Given the description of an element on the screen output the (x, y) to click on. 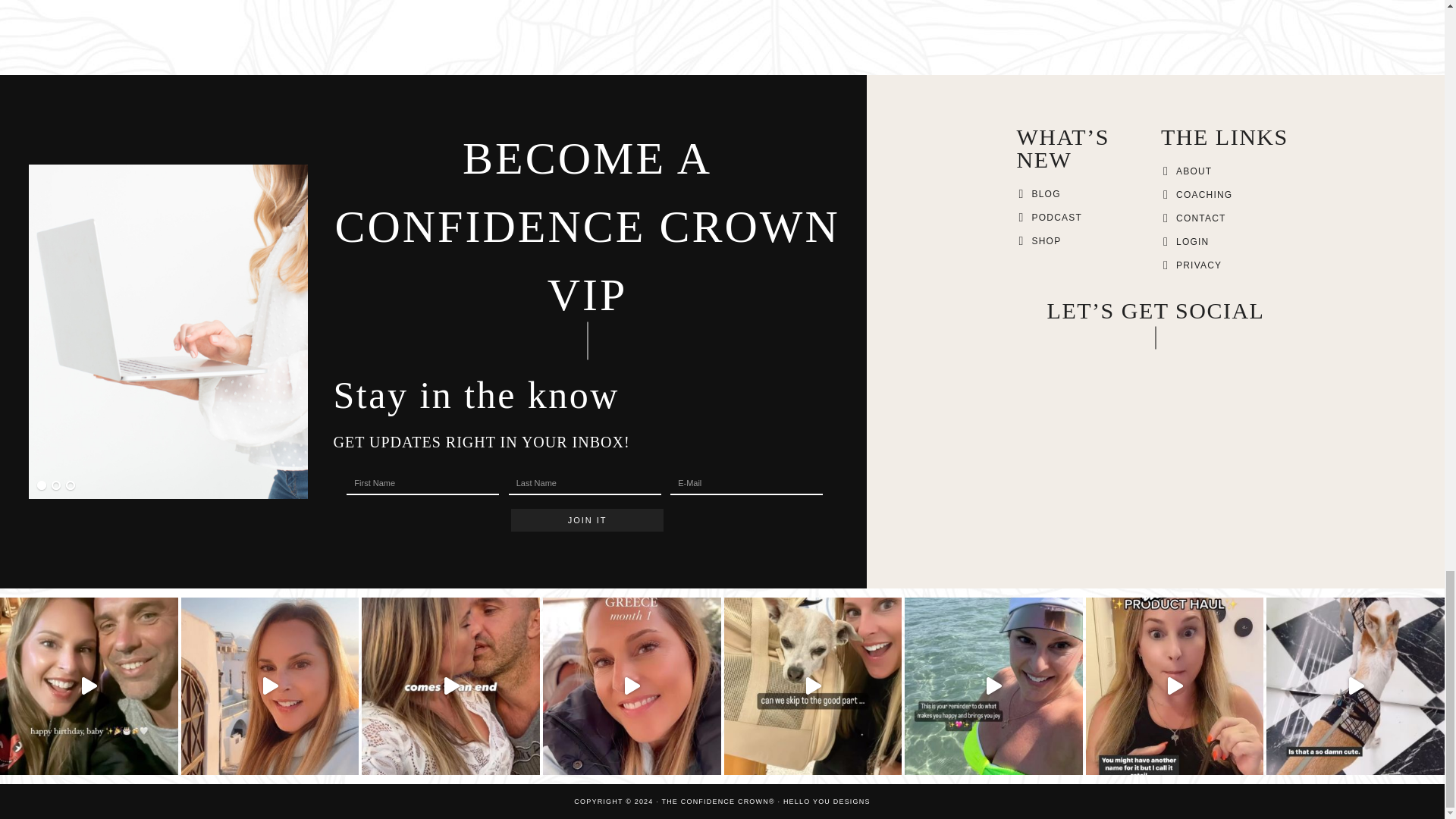
Pinterest (1187, 365)
Facebook (1090, 364)
CONTACT (1200, 217)
SHOP (1046, 240)
Facebook (1090, 365)
Instagram (1123, 364)
BLOG (1046, 194)
YouTube (1219, 365)
PRIVACY (1198, 265)
ABOUT (1193, 171)
LOGIN (1192, 241)
Join It (587, 519)
COACHING (1203, 194)
LinkedIn (1155, 365)
LinkedIn (1154, 364)
